Given the description of an element on the screen output the (x, y) to click on. 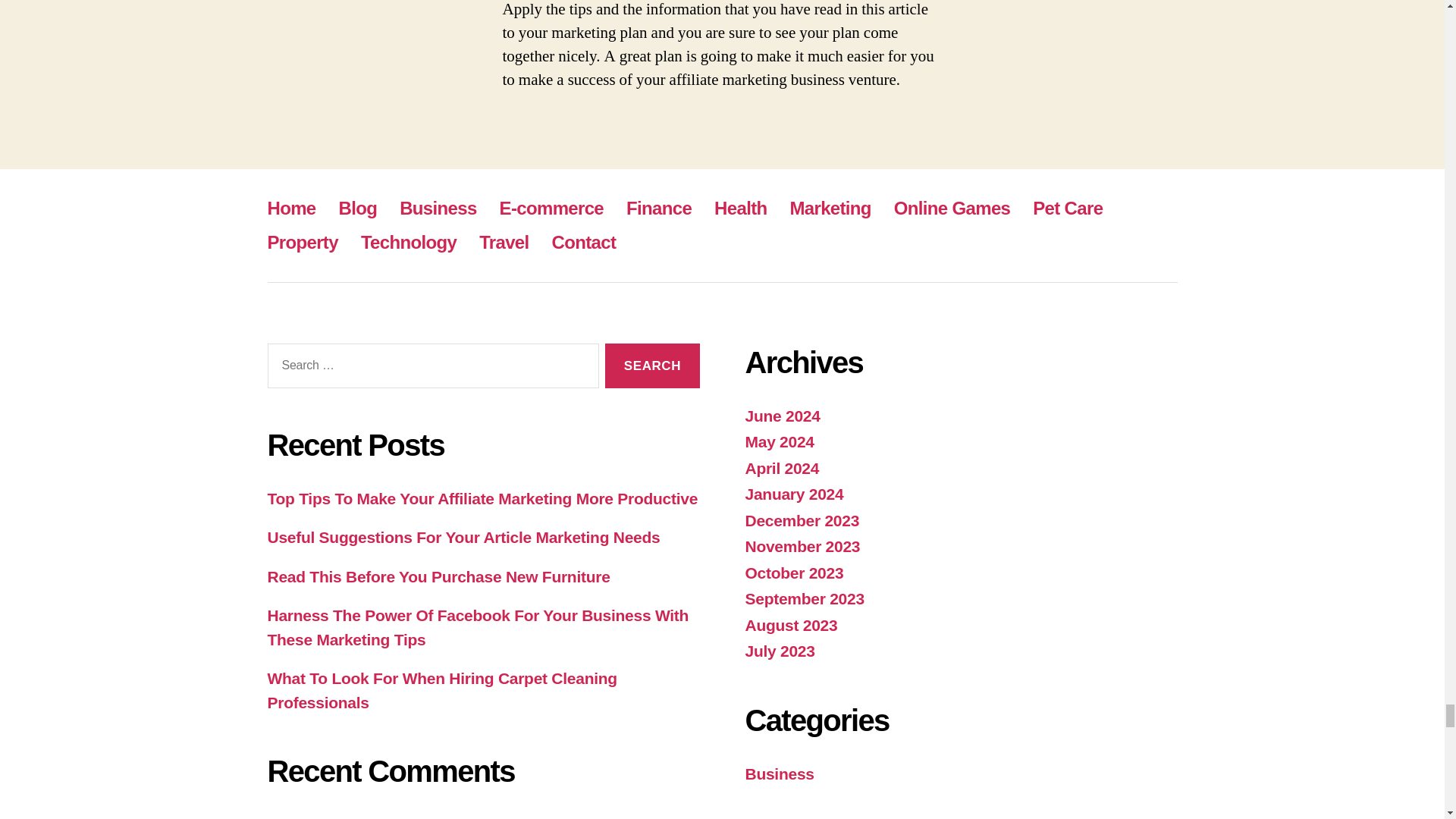
Search (651, 365)
Search (651, 365)
